Given the description of an element on the screen output the (x, y) to click on. 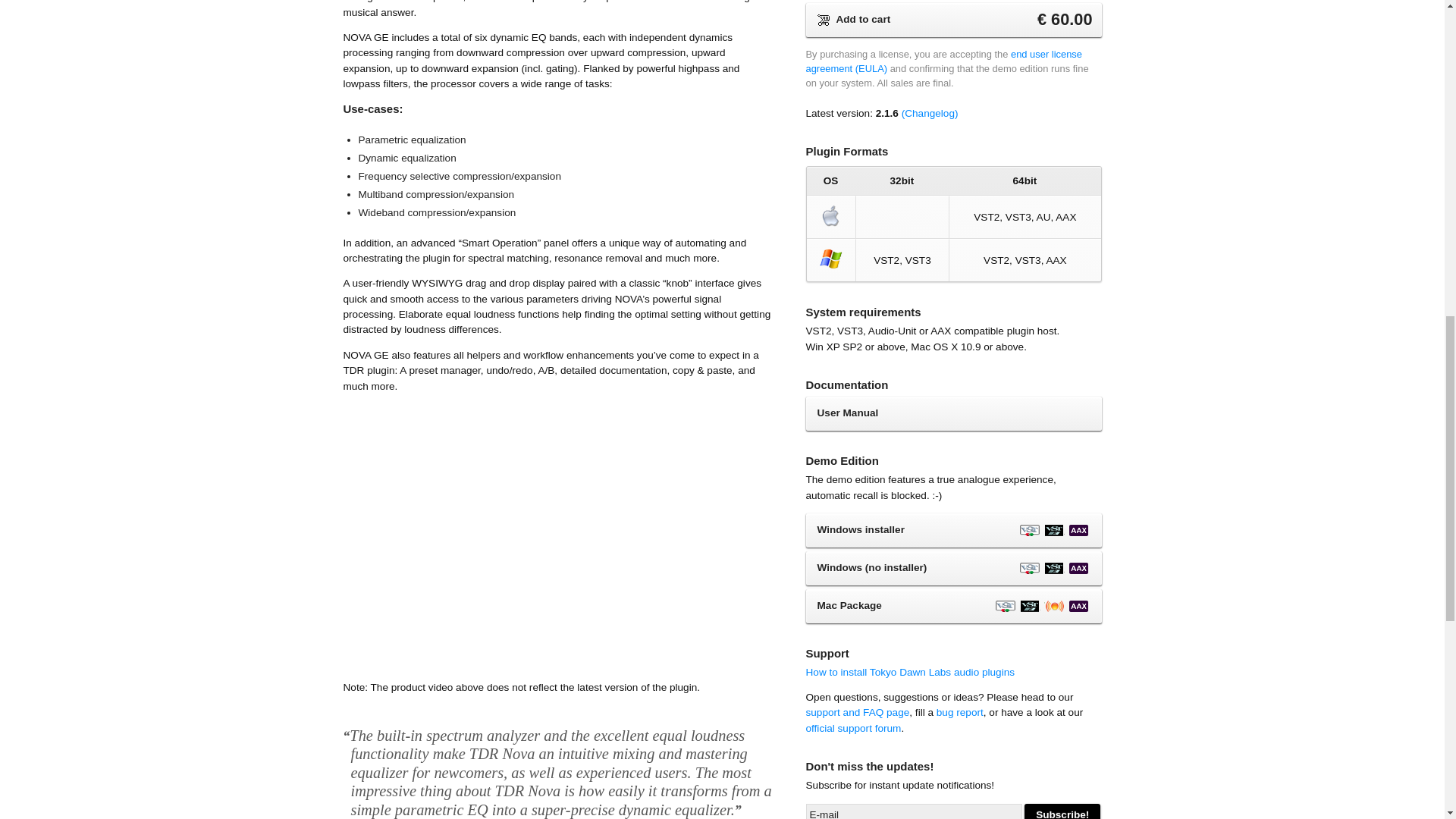
bug report (960, 712)
E-mail (913, 811)
How to install Tokyo Dawn Labs audio plugins (909, 672)
Windows (831, 259)
TDR Nova GE - User Manual (952, 413)
Download TDR Nova GE - Windows installer (952, 530)
Mac-OS (831, 214)
Subscribe! (1062, 811)
Windows installer (952, 530)
VST2 (1029, 530)
User Manual (952, 413)
Subscribe! (1062, 811)
official support forum (853, 727)
Mac Package (952, 605)
support and FAQ page (856, 712)
